Given the description of an element on the screen output the (x, y) to click on. 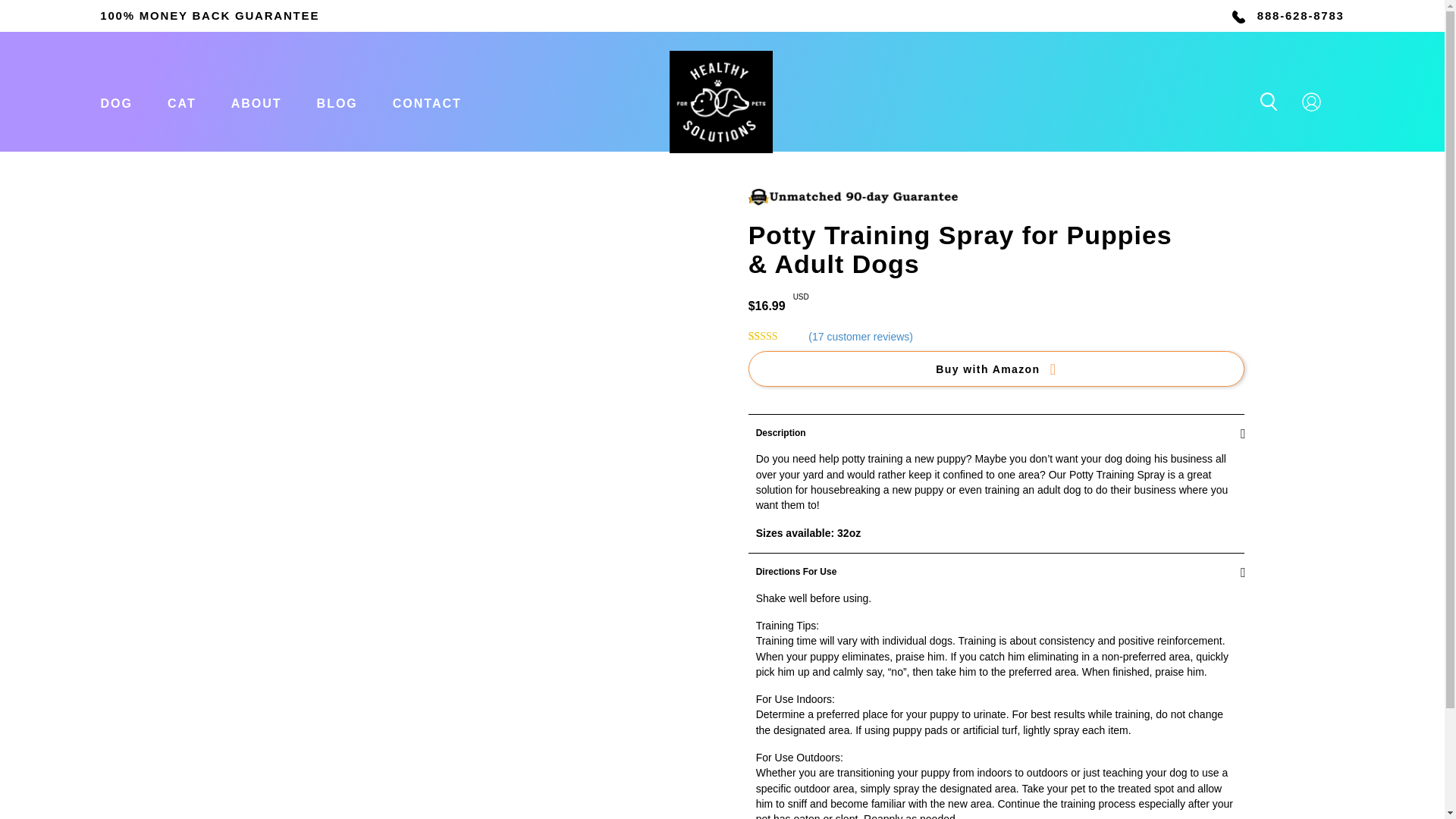
DOG (116, 102)
CAT (181, 102)
image3 (853, 197)
CONTACT (427, 102)
888-628-8783 (1300, 15)
BLOG (337, 102)
ABOUT (256, 102)
Healthy-Solution-Logo (721, 101)
